Given the description of an element on the screen output the (x, y) to click on. 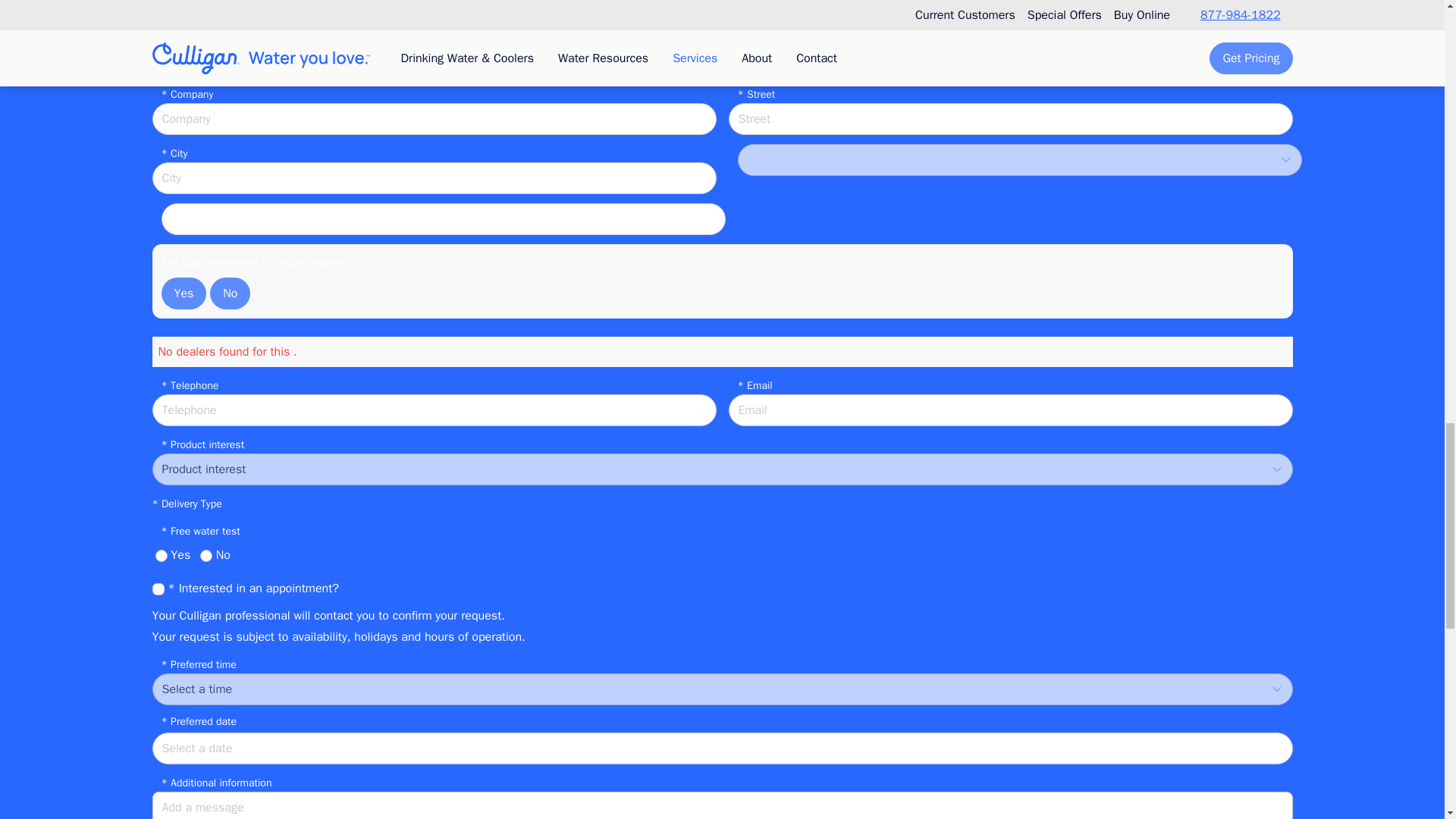
yes (160, 555)
Yes (183, 293)
No (229, 293)
no (206, 555)
